Given the description of an element on the screen output the (x, y) to click on. 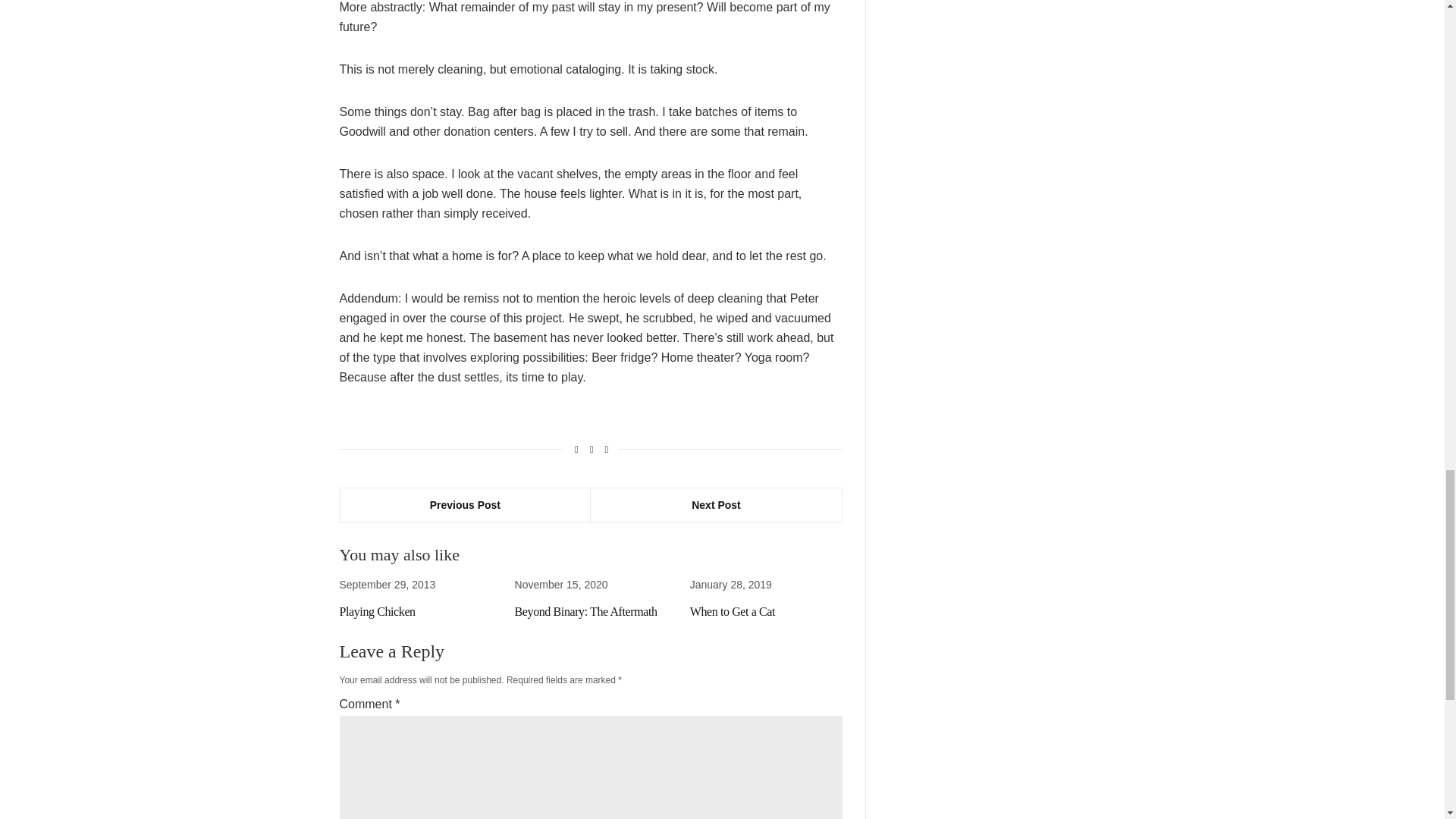
Next Post (716, 504)
Previous Post (465, 504)
When to Get a Cat (732, 611)
Beyond Binary: The Aftermath (586, 611)
Playing Chicken (376, 611)
